Given the description of an element on the screen output the (x, y) to click on. 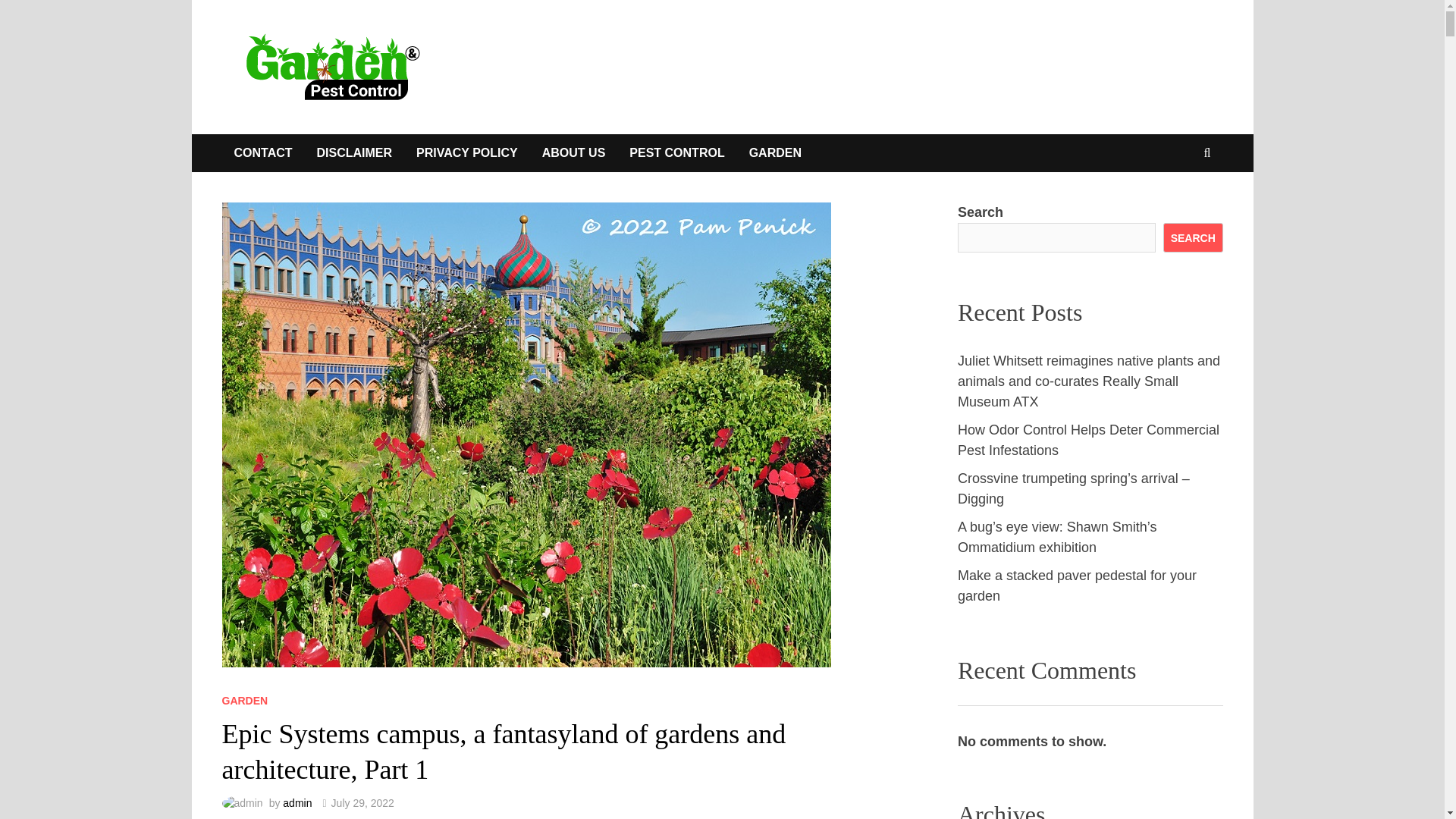
July 29, 2022 (362, 802)
Make a stacked paver pedestal for your garden (1077, 585)
CONTACT (262, 152)
GARDEN (774, 152)
How Odor Control Helps Deter Commercial Pest Infestations (1089, 439)
ABOUT US (573, 152)
GARDEN (244, 700)
SEARCH (1193, 237)
admin (296, 802)
